Given the description of an element on the screen output the (x, y) to click on. 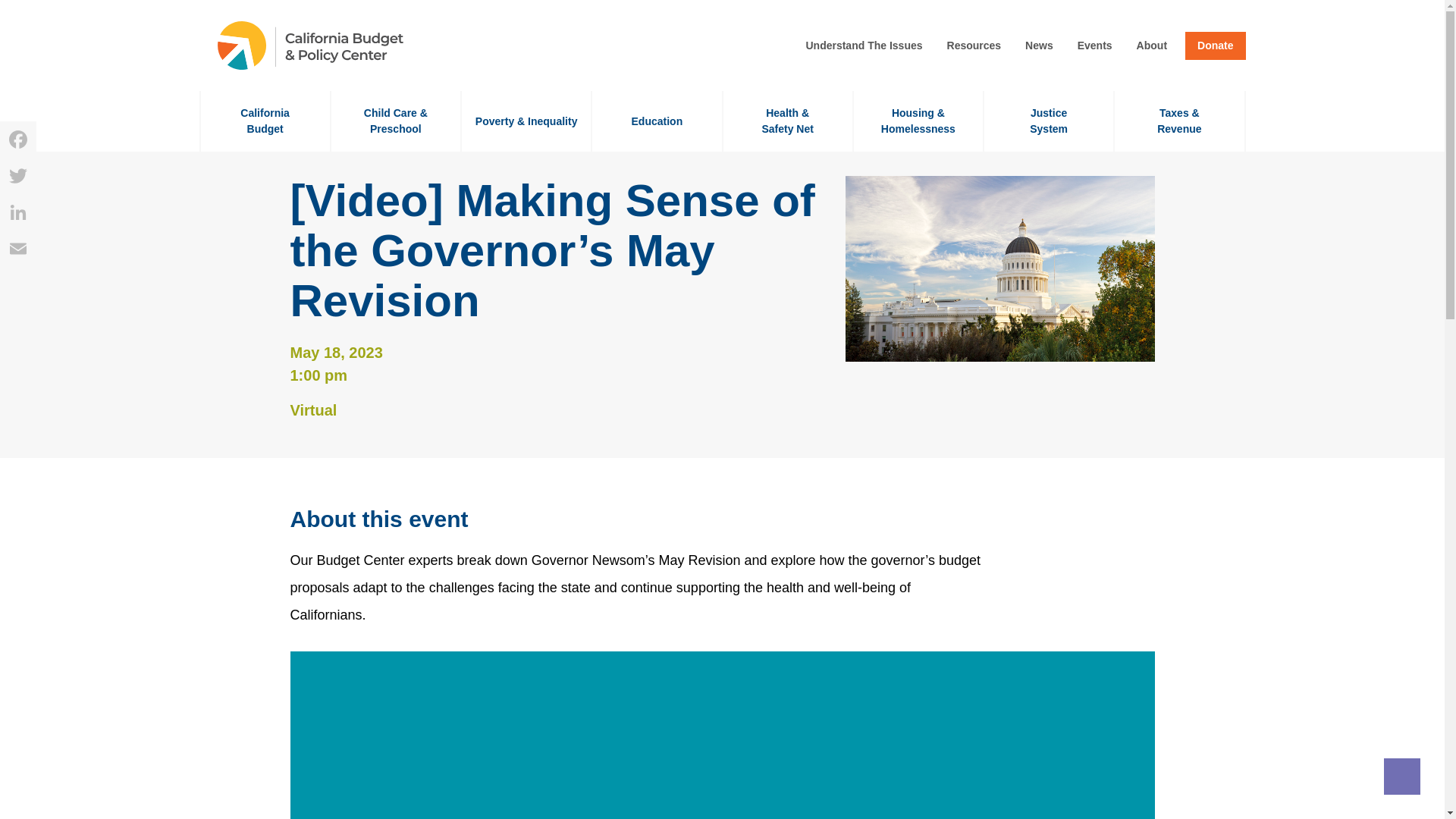
Education (656, 120)
LinkedIn (18, 212)
About (1152, 45)
News (1039, 45)
Twitter (18, 176)
Donate (1214, 45)
Email (18, 248)
Understand The Issues (863, 45)
Making Sense of the Governor's May Revision (721, 747)
Resources (264, 120)
Facebook (1048, 120)
Events (973, 45)
